Given the description of an element on the screen output the (x, y) to click on. 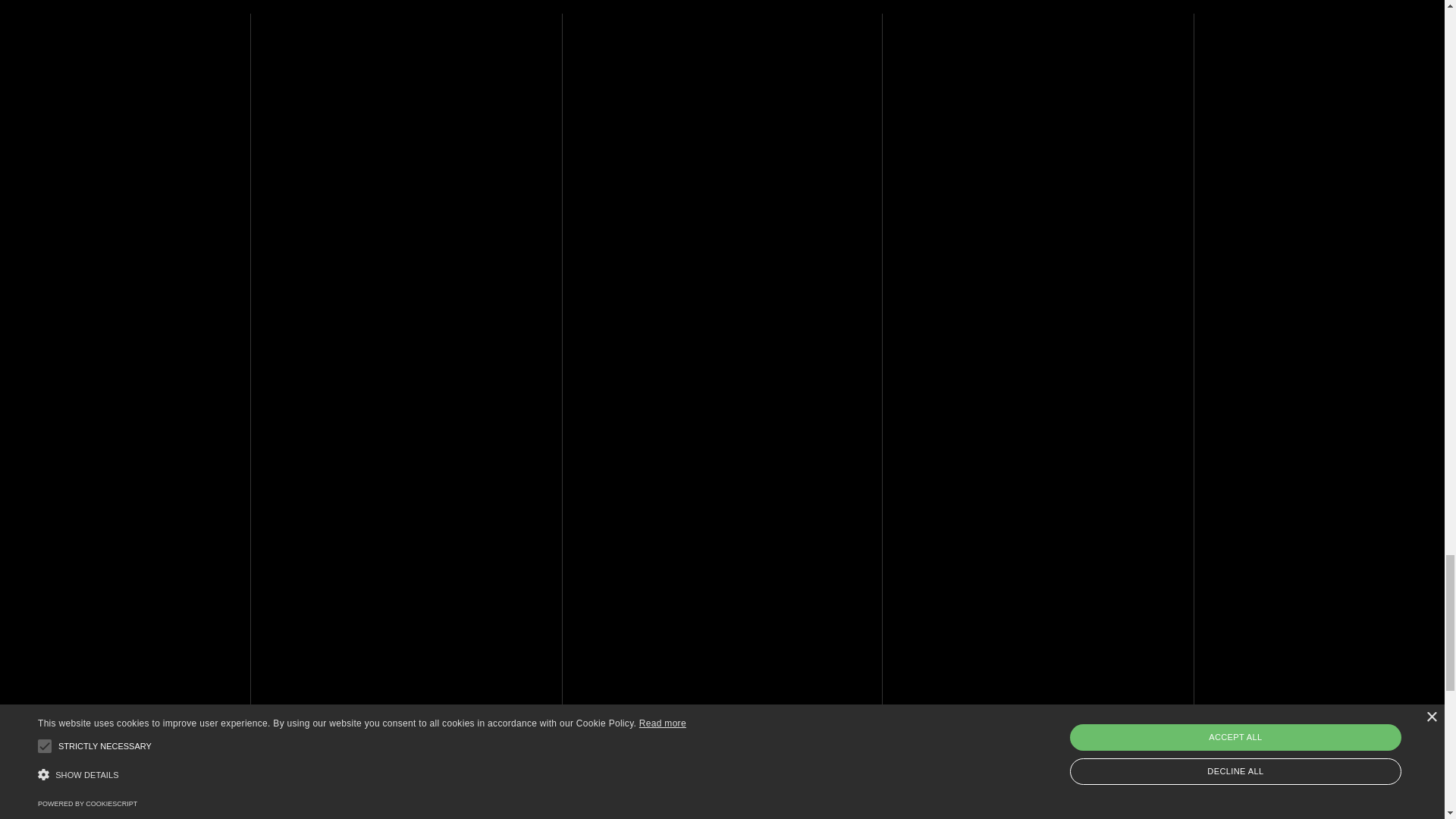
Send message (783, 617)
